Given the description of an element on the screen output the (x, y) to click on. 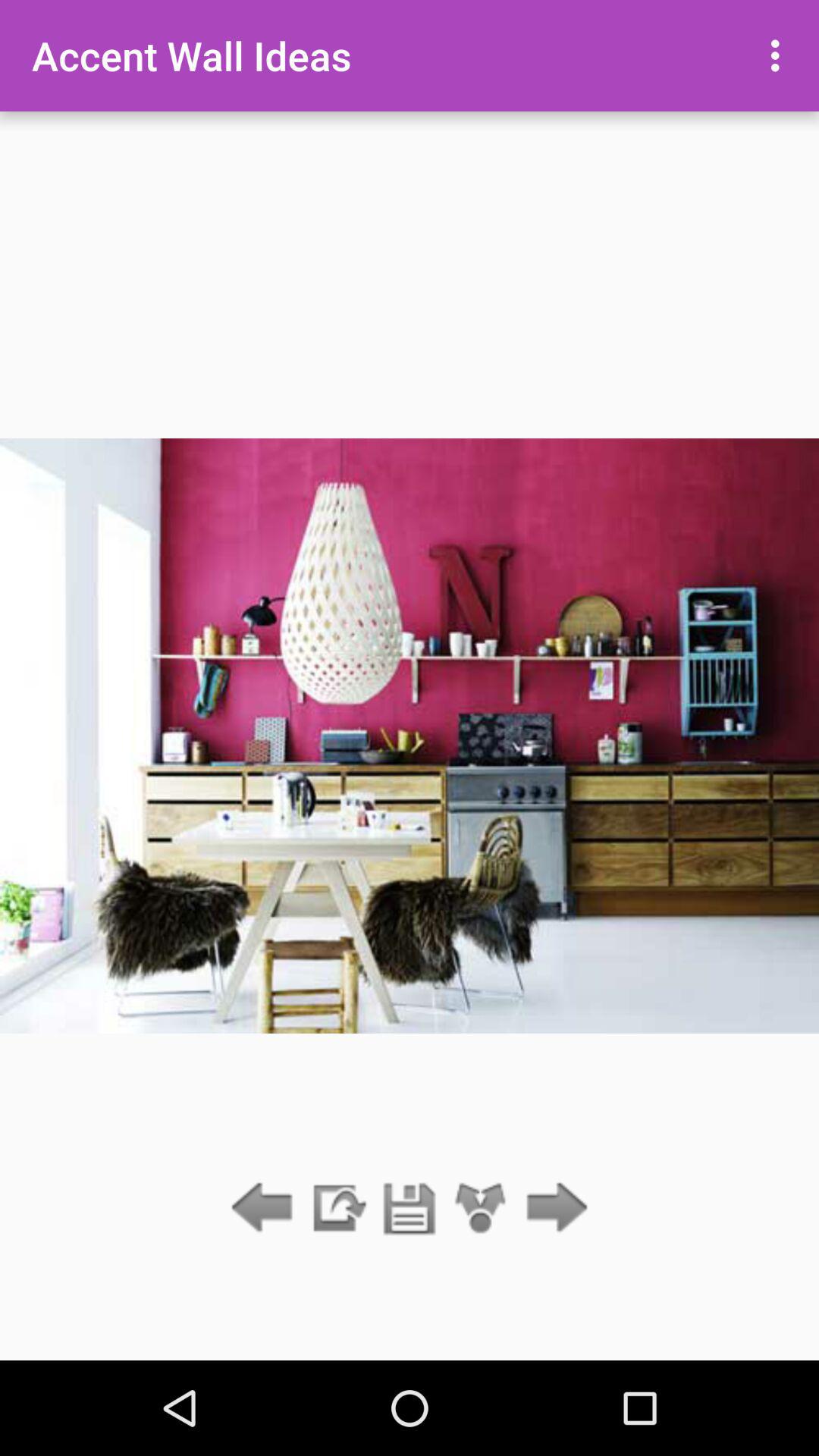
save project (409, 1208)
